Given the description of an element on the screen output the (x, y) to click on. 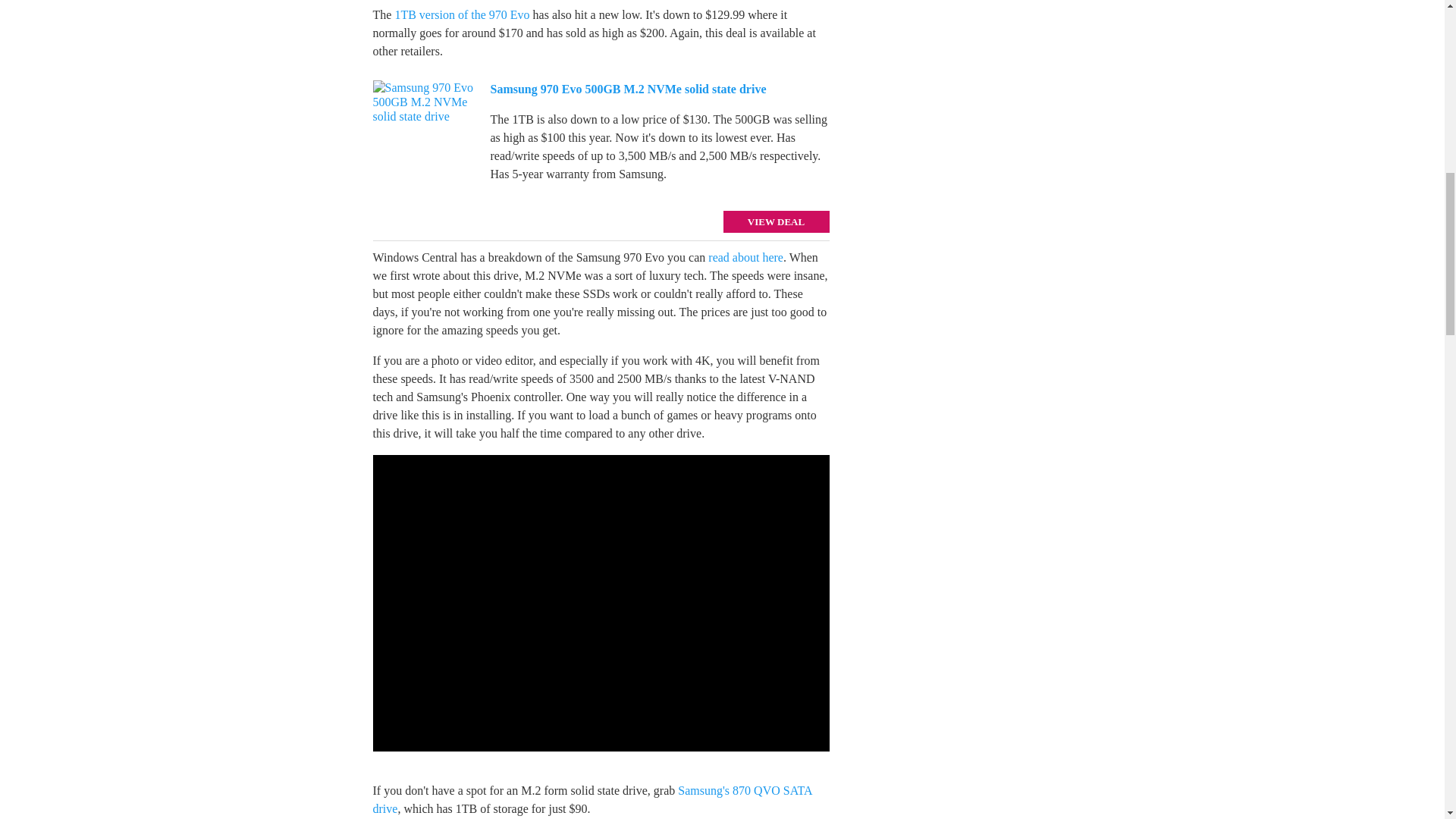
VIEW DEAL (776, 221)
1TB version of the 970 Evo (461, 14)
Samsung's 870 QVO SATA drive (592, 798)
Samsung 970 Evo 500GB M.2 NVMe solid state drive (627, 88)
Samsung 970 Evo 500GB M.2 NVMe solid state drive (425, 137)
read about here (745, 256)
